Given the description of an element on the screen output the (x, y) to click on. 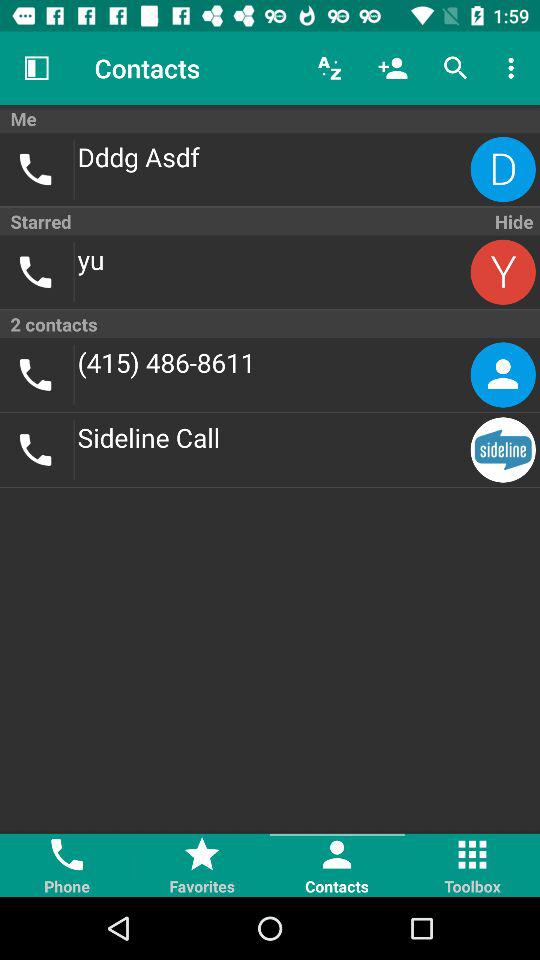
tap item above the me item (392, 67)
